Given the description of an element on the screen output the (x, y) to click on. 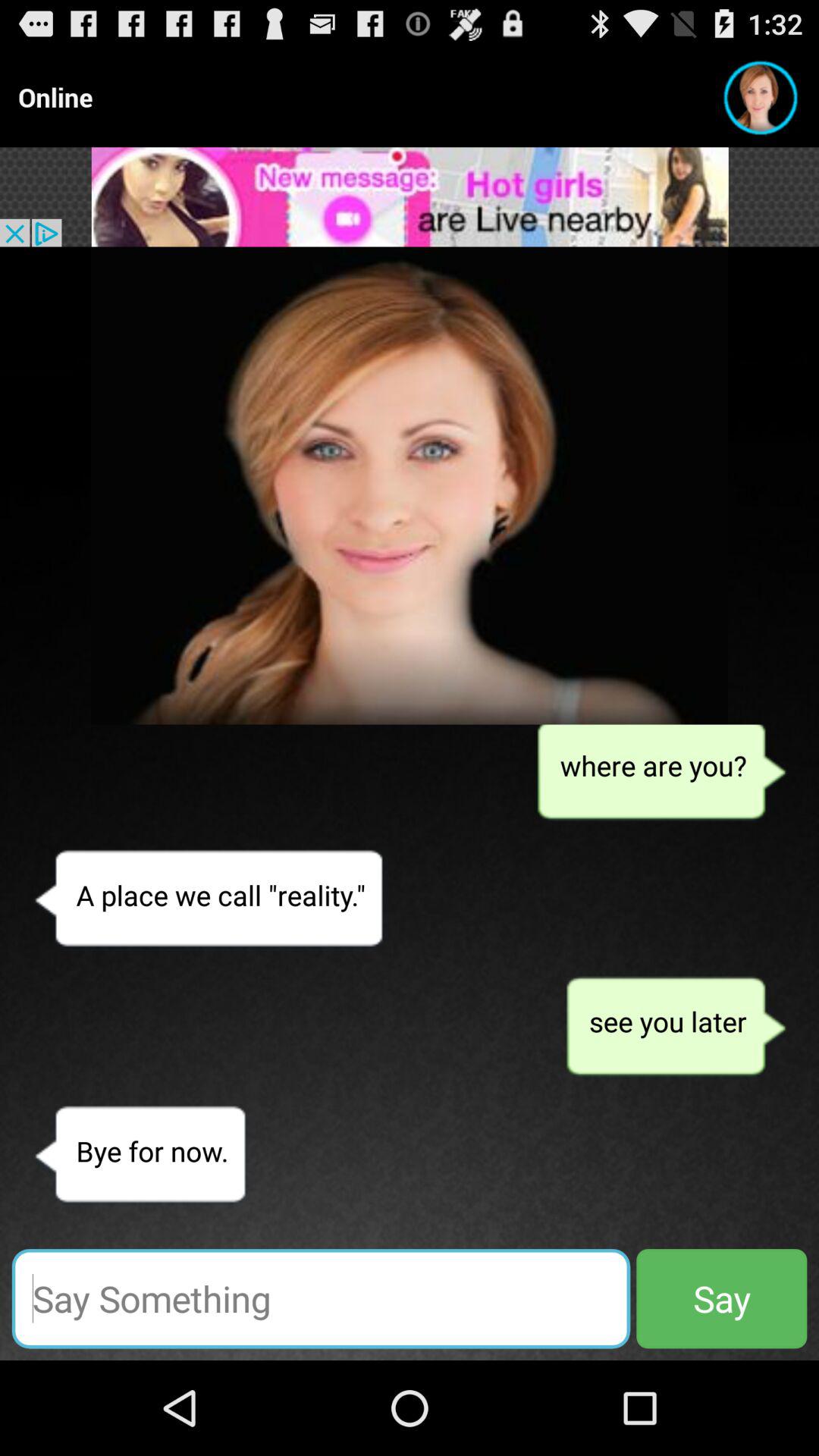
details about advertisement (409, 196)
